Given the description of an element on the screen output the (x, y) to click on. 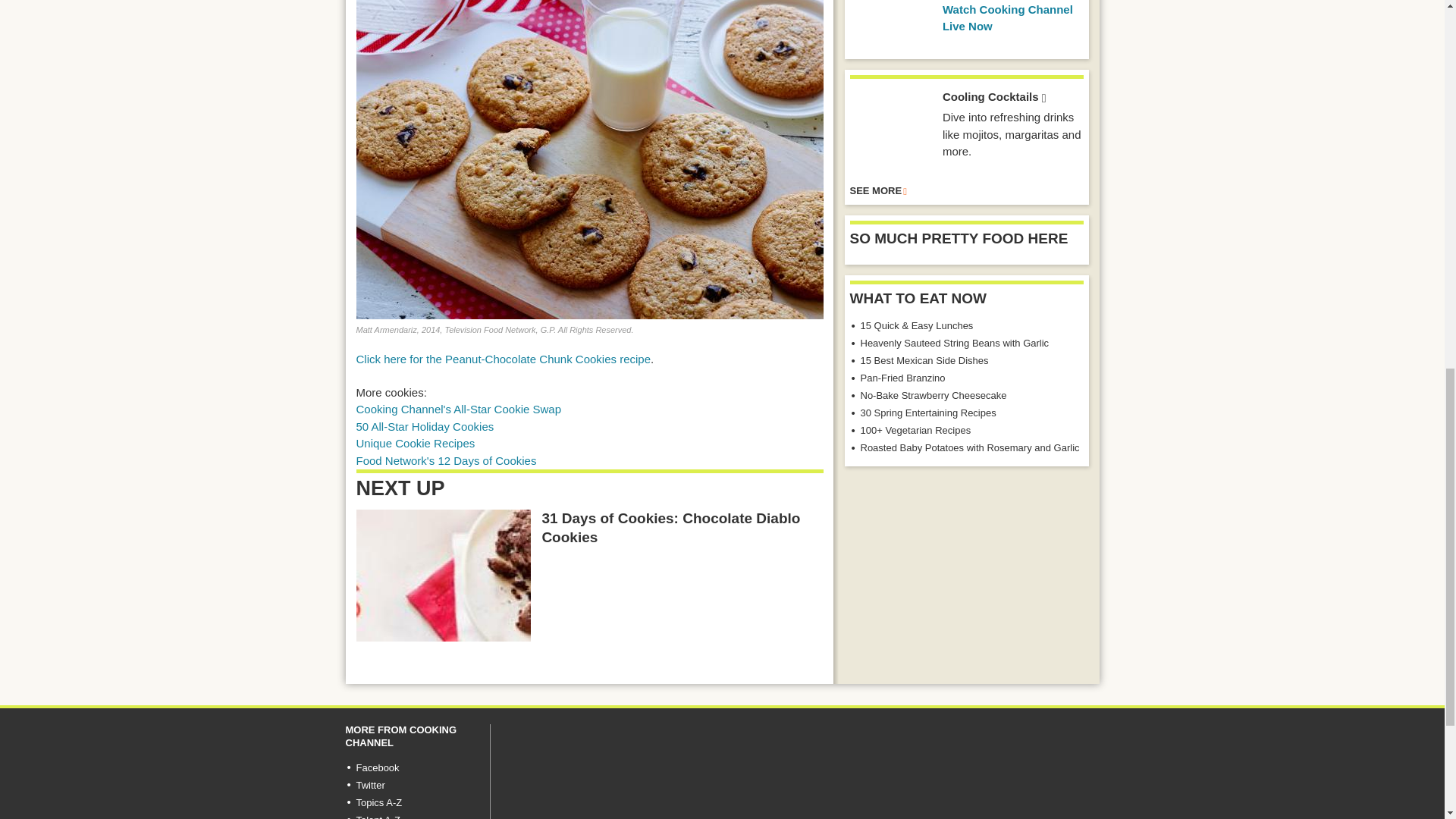
Cooking Channel (459, 408)
50 All-Star Holiday Cookies (425, 426)
31 Days of Cookies: Chocolate Diablo Cookies (443, 575)
Food Network (446, 460)
Click here for the Peanut-Chocolate Chunk Cookies recipe (503, 358)
Cooking Channel's All-Star Cookie Swap (459, 408)
Holiday Cookies Outside the Box (416, 442)
All-Star Cookies (425, 426)
